Given the description of an element on the screen output the (x, y) to click on. 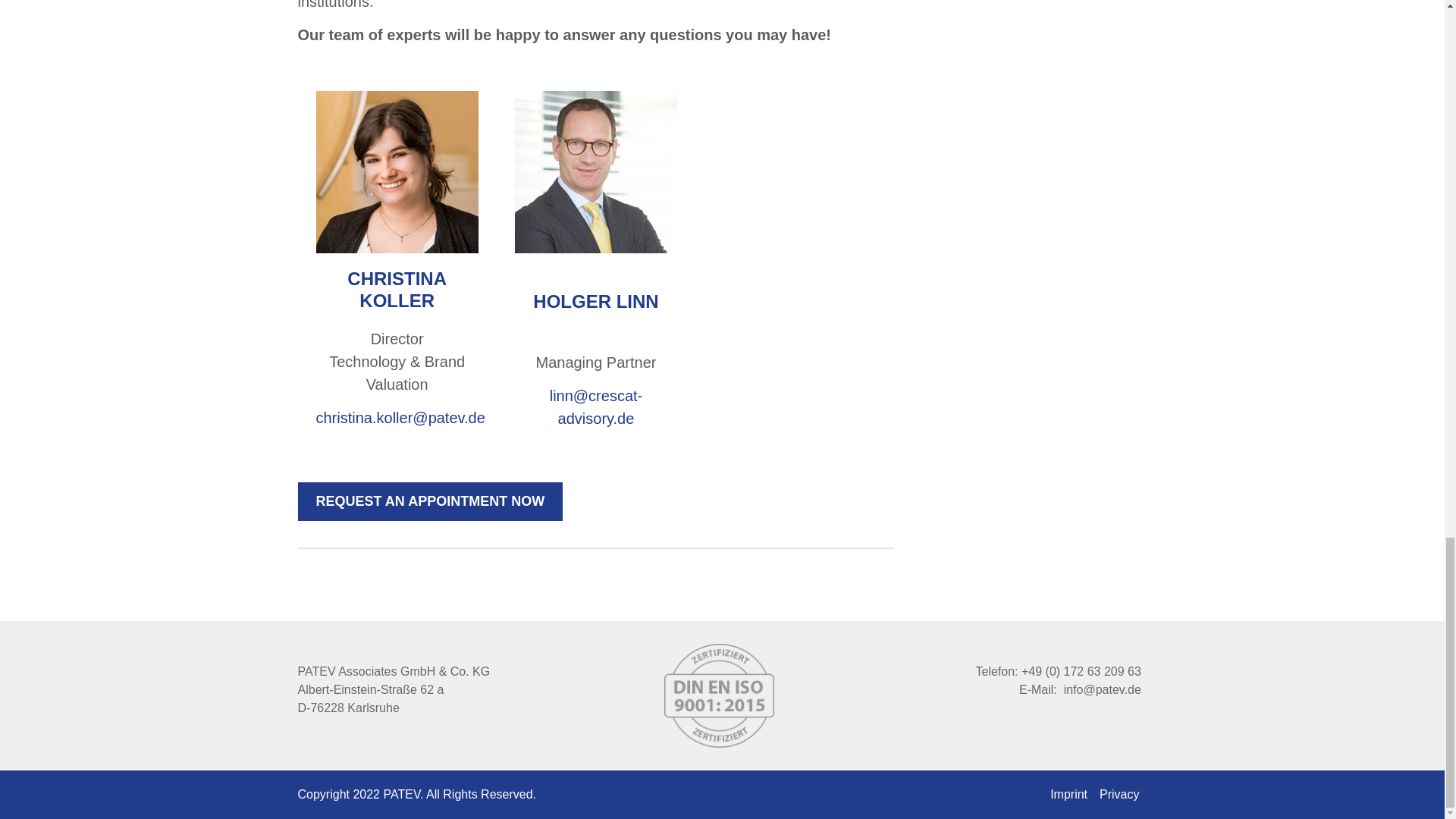
REQUEST AN APPOINTMENT NOW (429, 501)
Imprint (1068, 794)
Privacy (1118, 794)
